Given the description of an element on the screen output the (x, y) to click on. 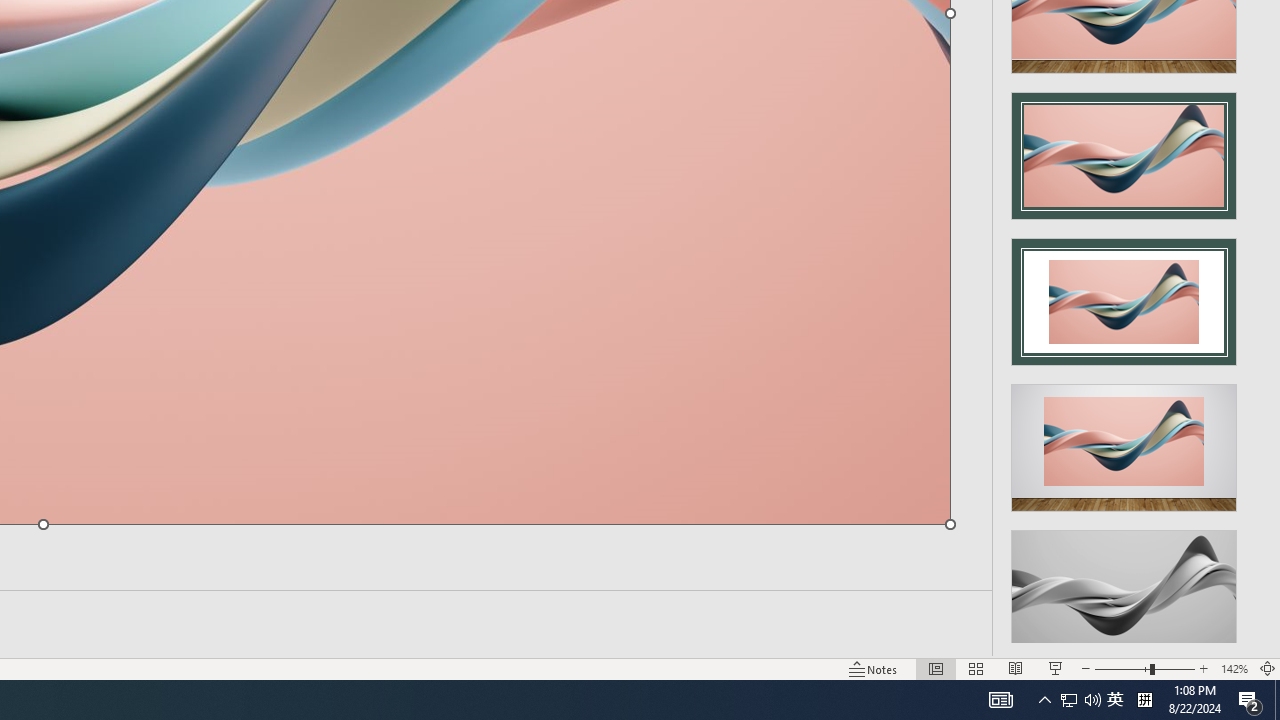
Zoom 142% (1234, 668)
